Given the description of an element on the screen output the (x, y) to click on. 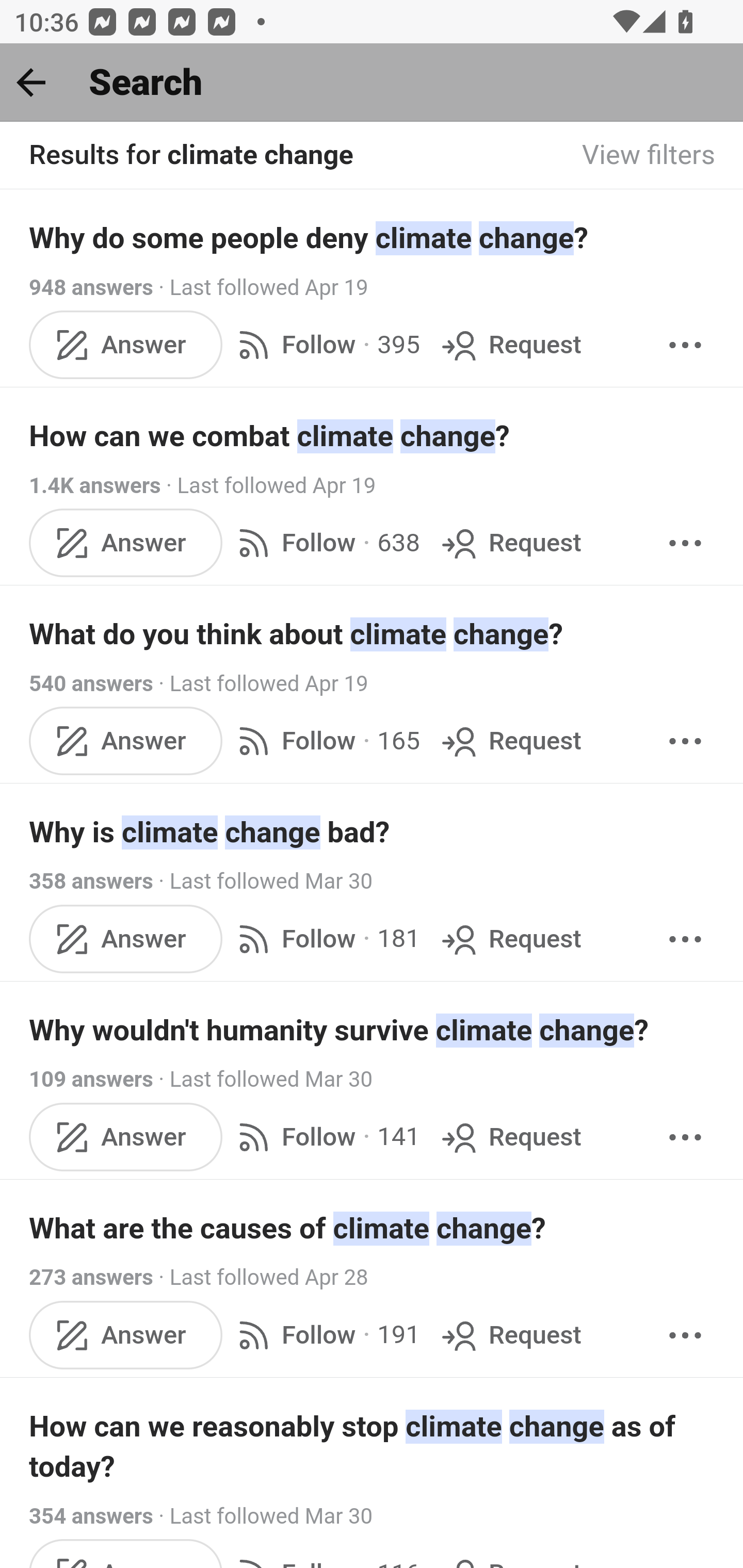
Back Search (371, 82)
Back (30, 82)
View filters (648, 155)
Why do some people deny climate change? (372, 237)
948 answers 948  answers (90, 287)
Answer (125, 343)
Follow · 395 (324, 343)
Request (509, 343)
More (684, 343)
How can we combat climate change? (372, 436)
1.4K answers 1.4K  answers (95, 484)
Answer (125, 543)
Follow · 638 (324, 543)
Request (509, 543)
More (684, 543)
What do you think about climate change? (372, 634)
540 answers 540  answers (90, 684)
Answer (125, 741)
Follow · 165 (324, 741)
Request (509, 741)
More (684, 741)
Why is climate change bad? (372, 832)
358 answers 358  answers (90, 881)
Answer (125, 939)
Follow · 181 (324, 939)
Request (509, 939)
More (684, 939)
Why wouldn't humanity survive climate change? (372, 1029)
109 answers 109  answers (90, 1079)
Answer (125, 1137)
Follow · 141 (324, 1137)
Request (509, 1137)
More (684, 1137)
What are the causes of climate change? (372, 1227)
273 answers 273  answers (90, 1277)
Answer (125, 1334)
Follow · 191 (324, 1334)
Request (509, 1334)
More (684, 1334)
354 answers 354  answers (90, 1516)
